Given the description of an element on the screen output the (x, y) to click on. 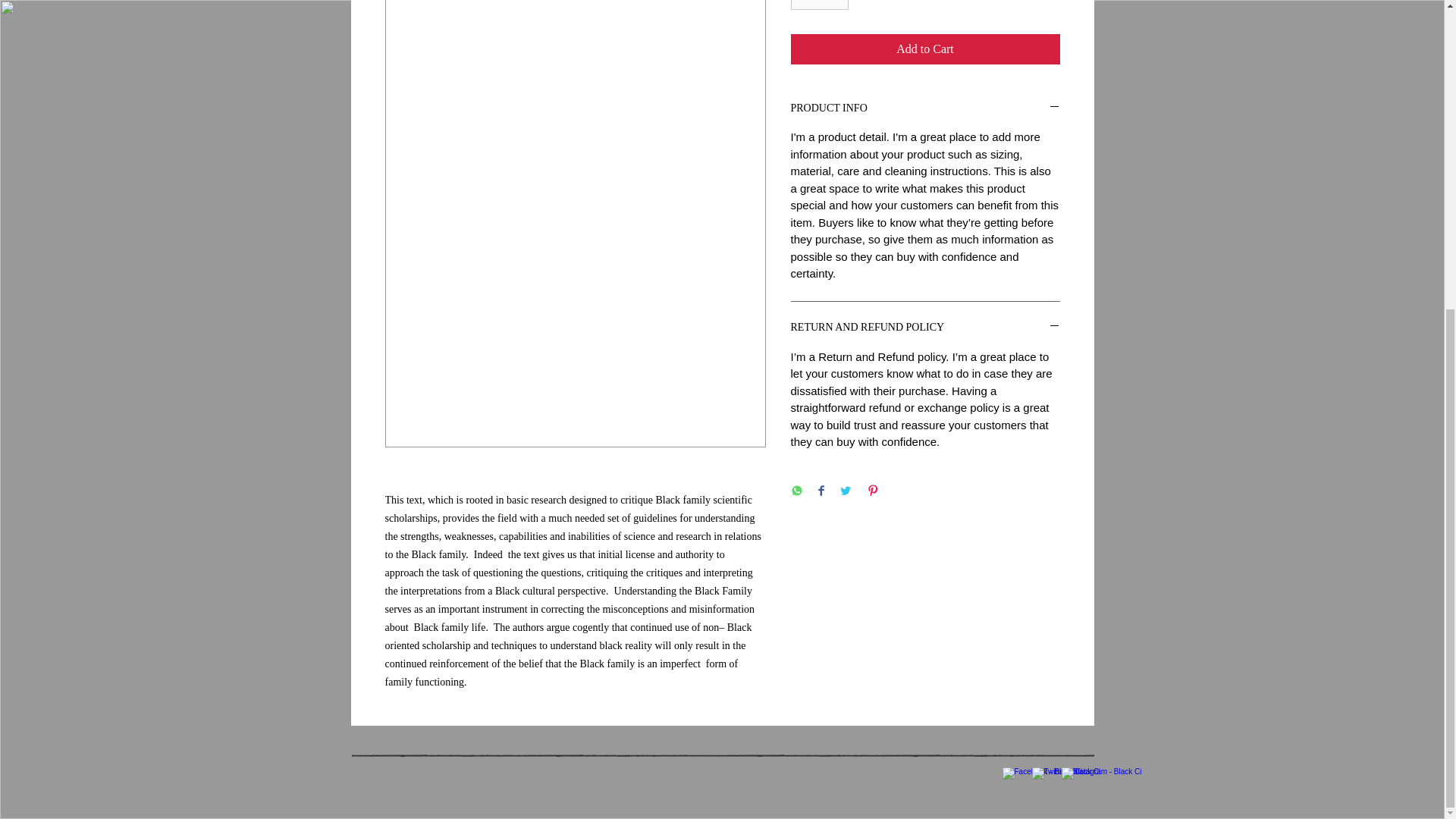
1 (818, 4)
RETURN AND REFUND POLICY (924, 327)
PRODUCT INFO (924, 108)
Add to Cart (924, 49)
